Given the description of an element on the screen output the (x, y) to click on. 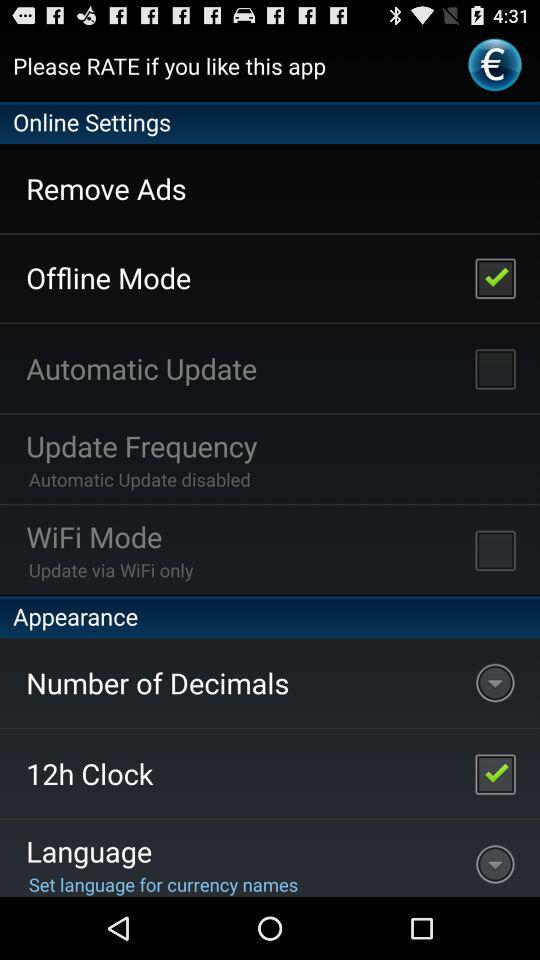
open the item to the right of the automatic update app (495, 367)
